Given the description of an element on the screen output the (x, y) to click on. 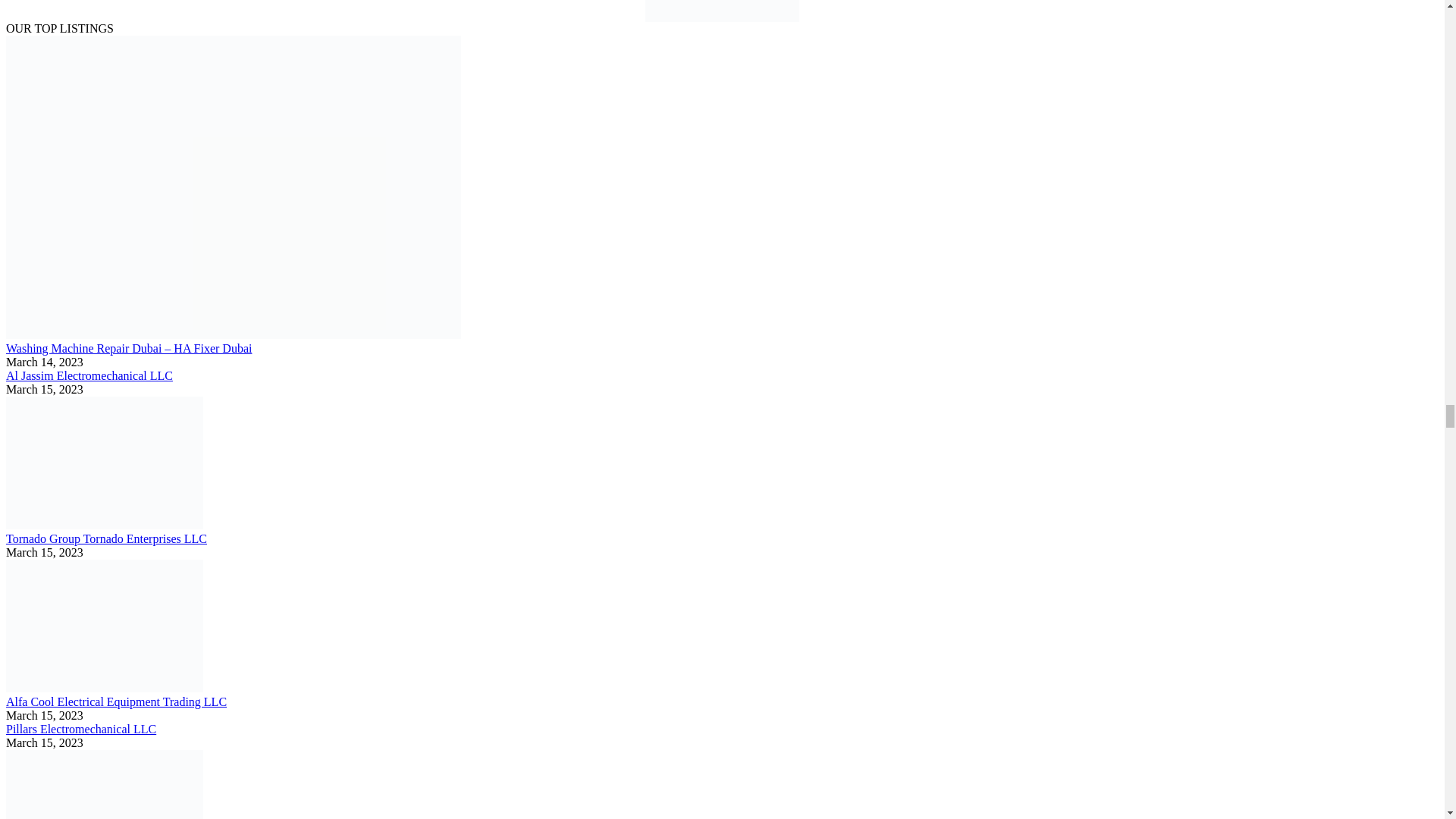
Pillars Electromechanical LLC (80, 728)
Alfa Cool Electrical Equipment Trading LLC (116, 701)
Al Jassim Electromechanical LLC (89, 375)
Tornado Group Tornado Enterprises LLC (105, 538)
